Given the description of an element on the screen output the (x, y) to click on. 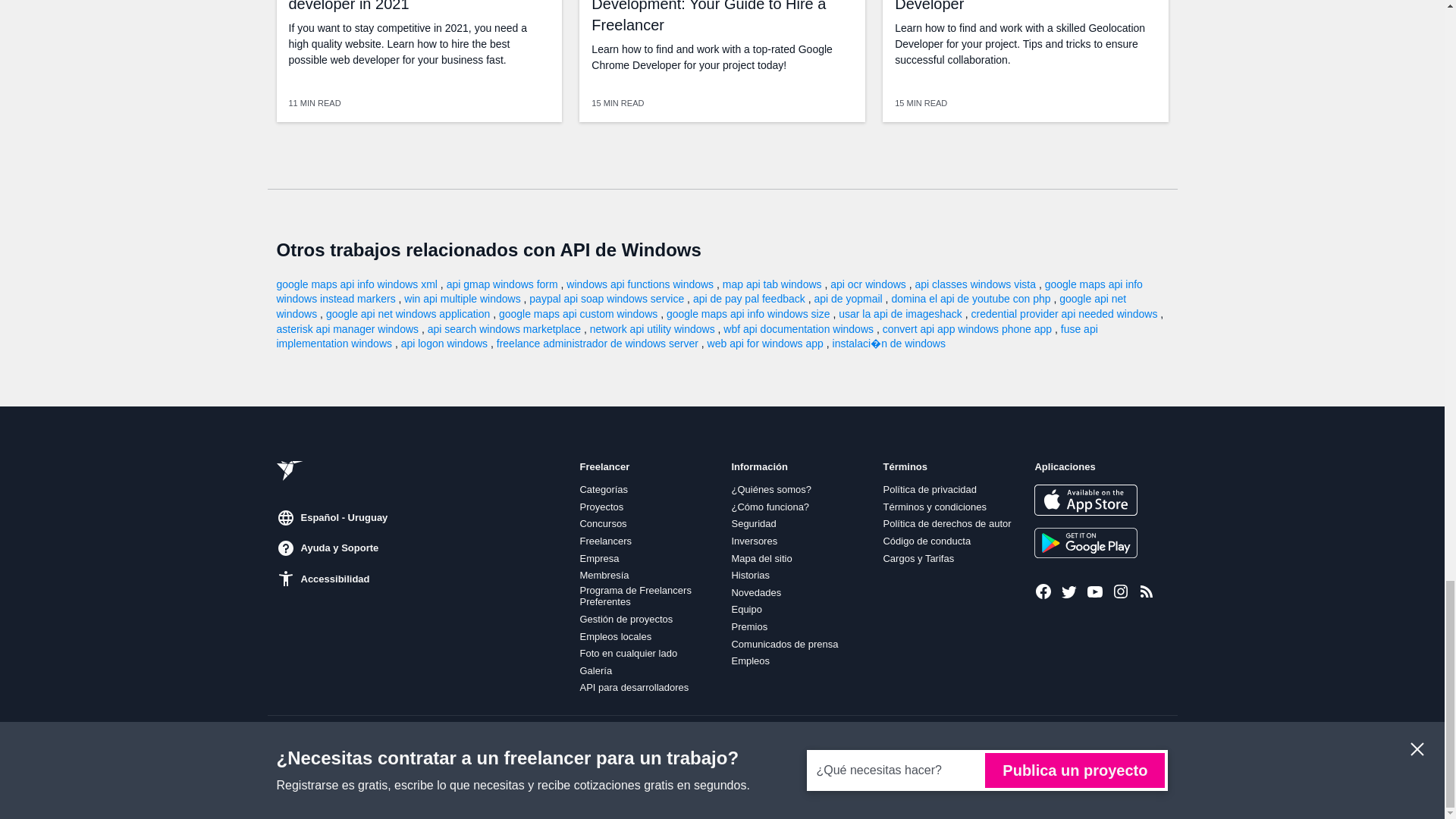
Disponible en Google Play (1085, 542)
Descarga en la App Store (1085, 499)
